Given the description of an element on the screen output the (x, y) to click on. 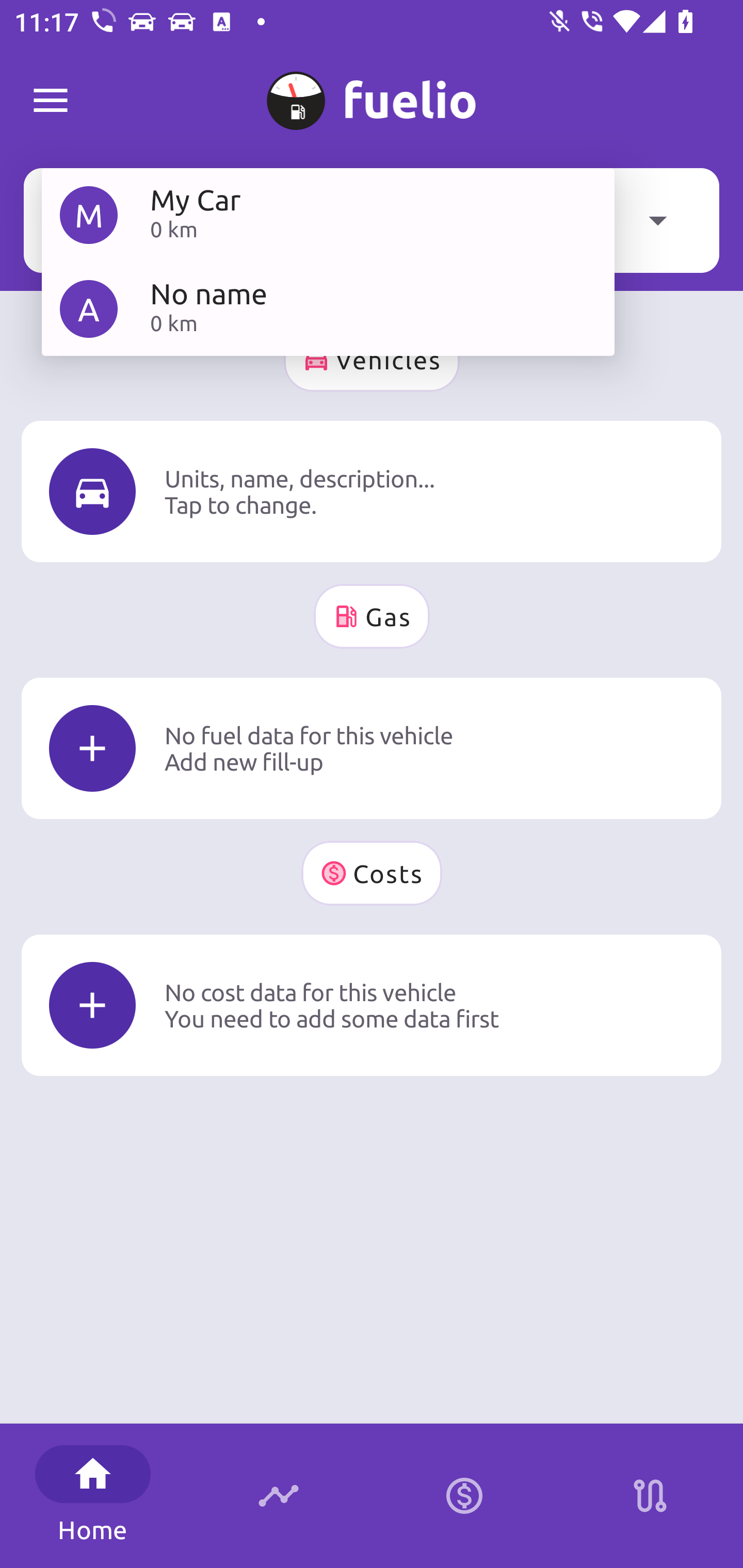
M My Car 0 km (327, 214)
A No name 0 km (327, 308)
